Given the description of an element on the screen output the (x, y) to click on. 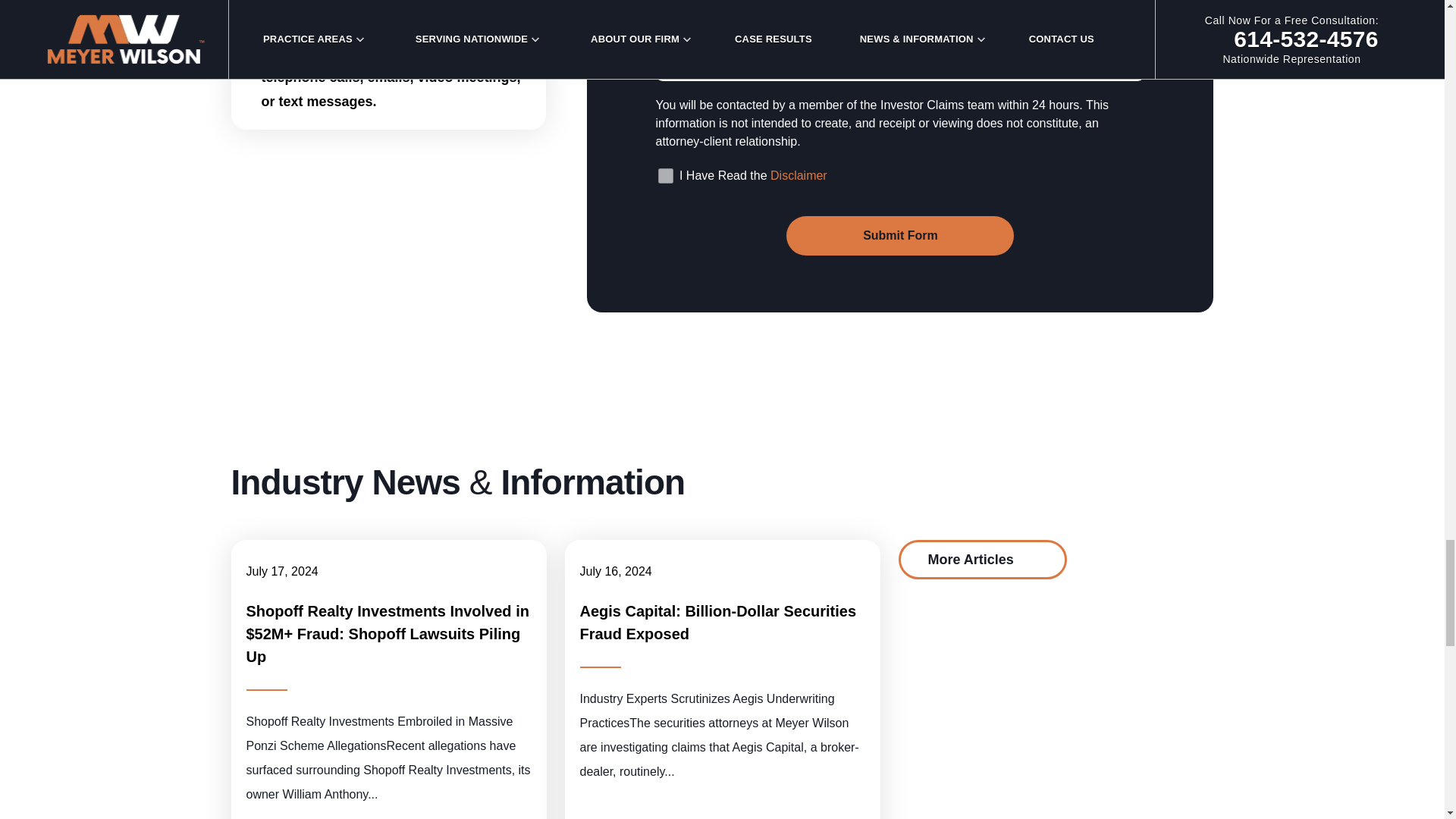
Submit Form (899, 235)
1 (665, 175)
